Given the description of an element on the screen output the (x, y) to click on. 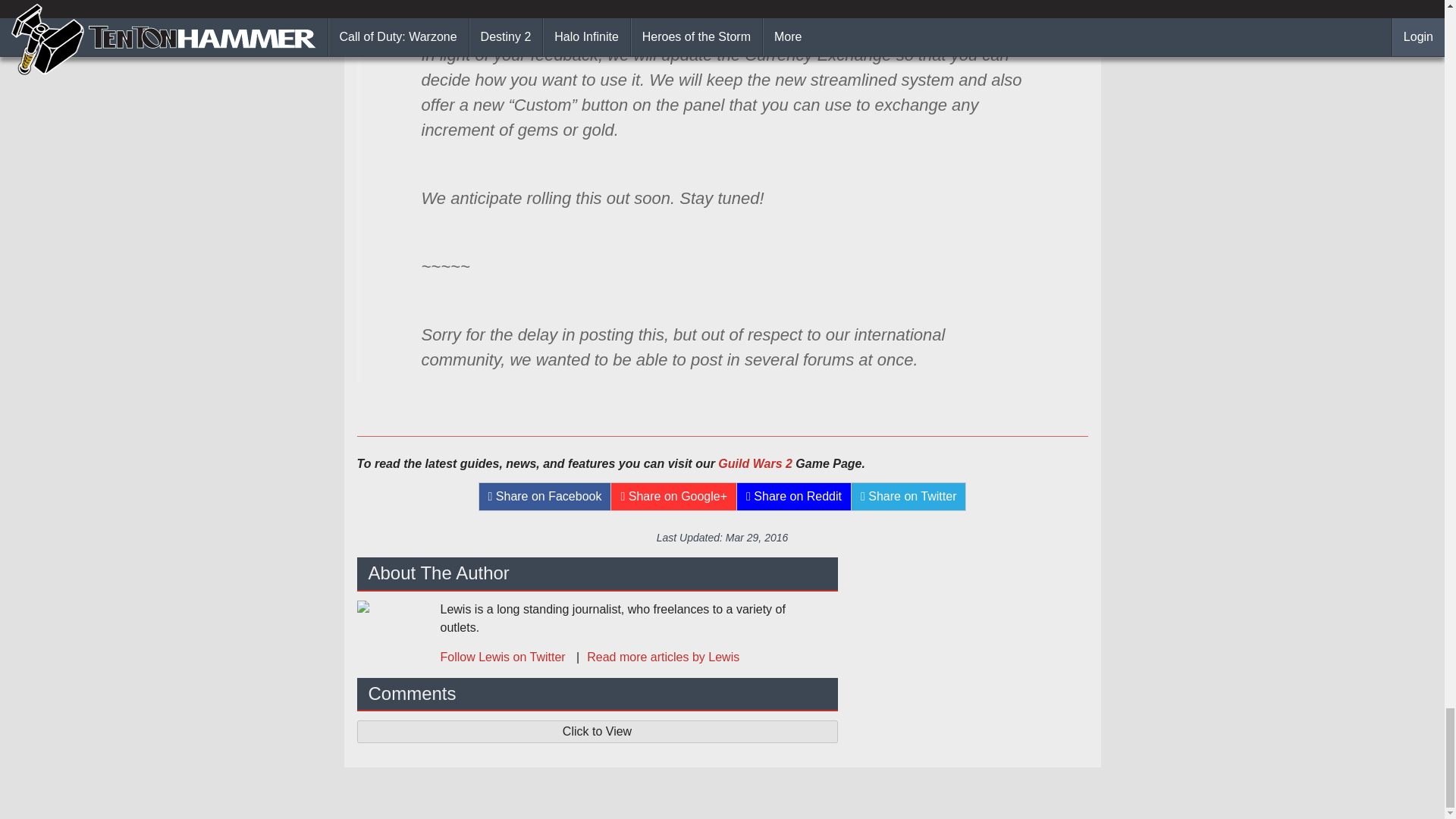
Share on Reddit (793, 496)
Share on Twitter (908, 496)
Follow Lewis on Twitter (504, 656)
Guild Wars 2 (754, 463)
Click to View (596, 731)
Share on Facebook (545, 496)
Read more articles by Lewis (654, 656)
